Given the description of an element on the screen output the (x, y) to click on. 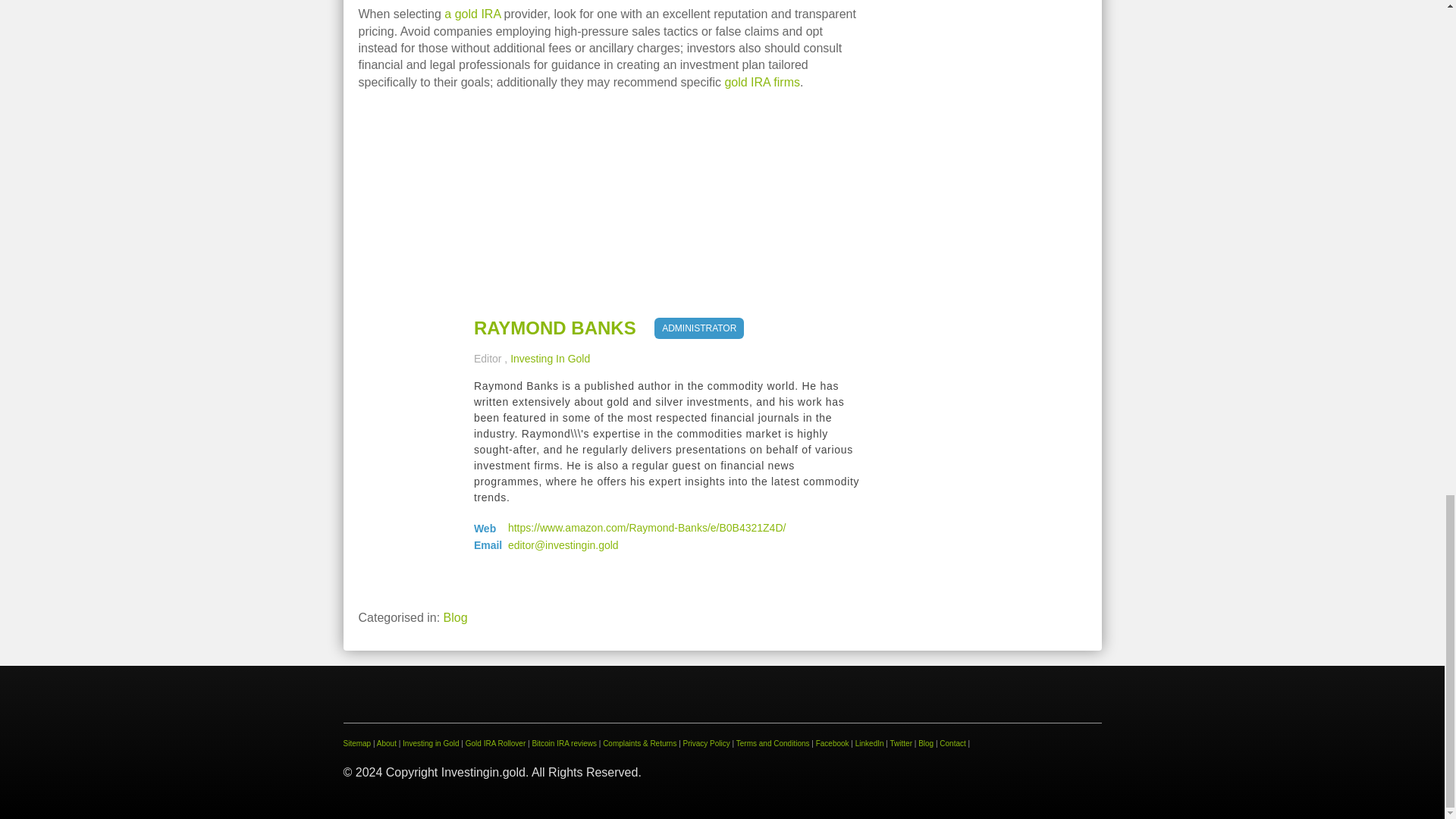
About (386, 743)
Contact (952, 743)
gold IRA firms (761, 82)
a gold IRA (472, 13)
Sitemap (356, 743)
RAYMOND BANKS (555, 328)
Bitcoin IRA reviews (563, 743)
Privacy Policy (706, 743)
Investing in Gold (431, 743)
Terms and Conditions (772, 743)
Blog (455, 617)
Investing In Gold (550, 358)
Facebook (831, 743)
Gold IRA Rollover (495, 743)
LinkedIn (869, 743)
